Given the description of an element on the screen output the (x, y) to click on. 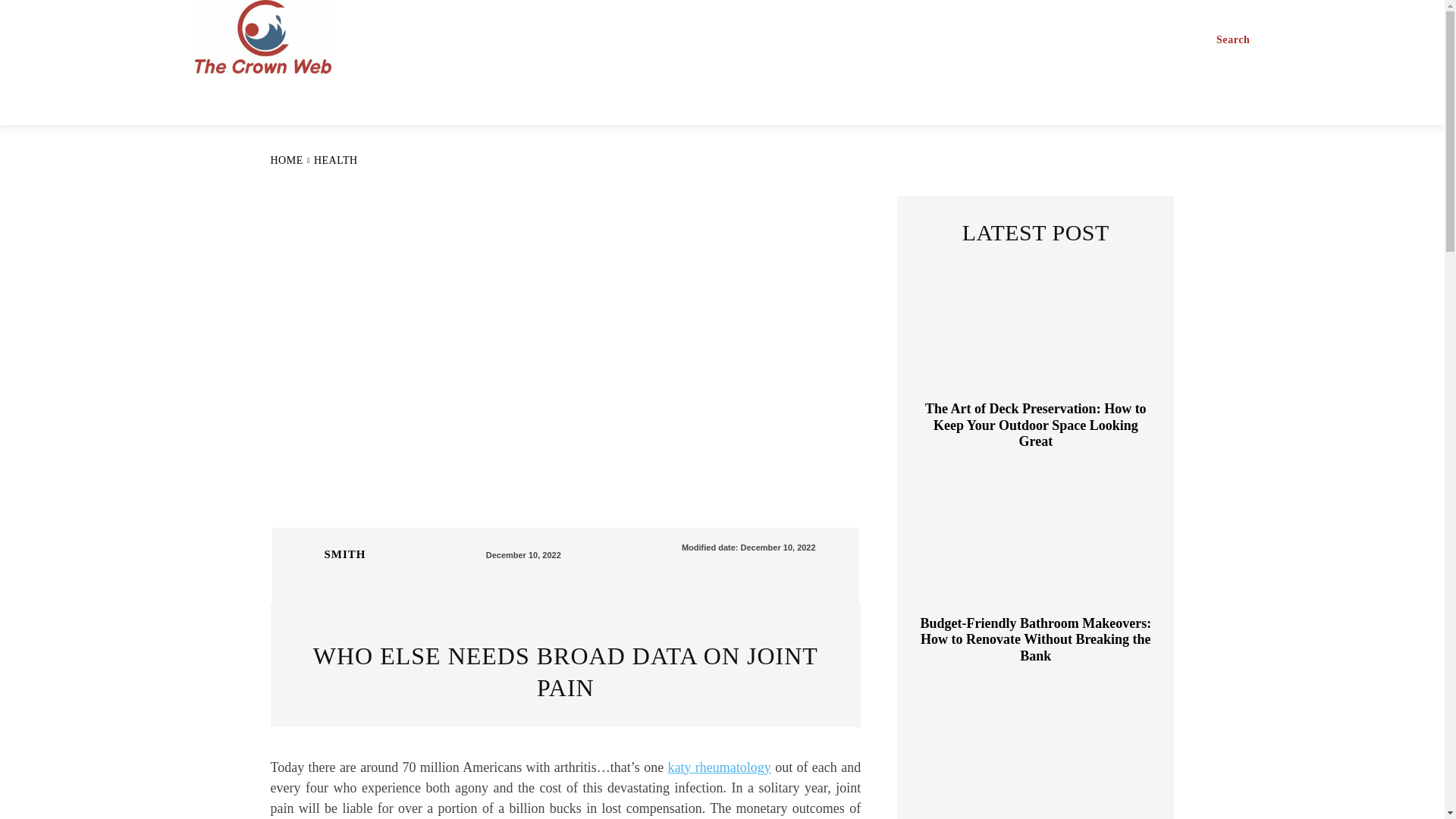
View all posts in Health (336, 160)
HOME (285, 160)
SMITH (345, 554)
Search (1232, 40)
katy rheumatology (719, 767)
HEALTH (336, 160)
Smith (304, 553)
